Given the description of an element on the screen output the (x, y) to click on. 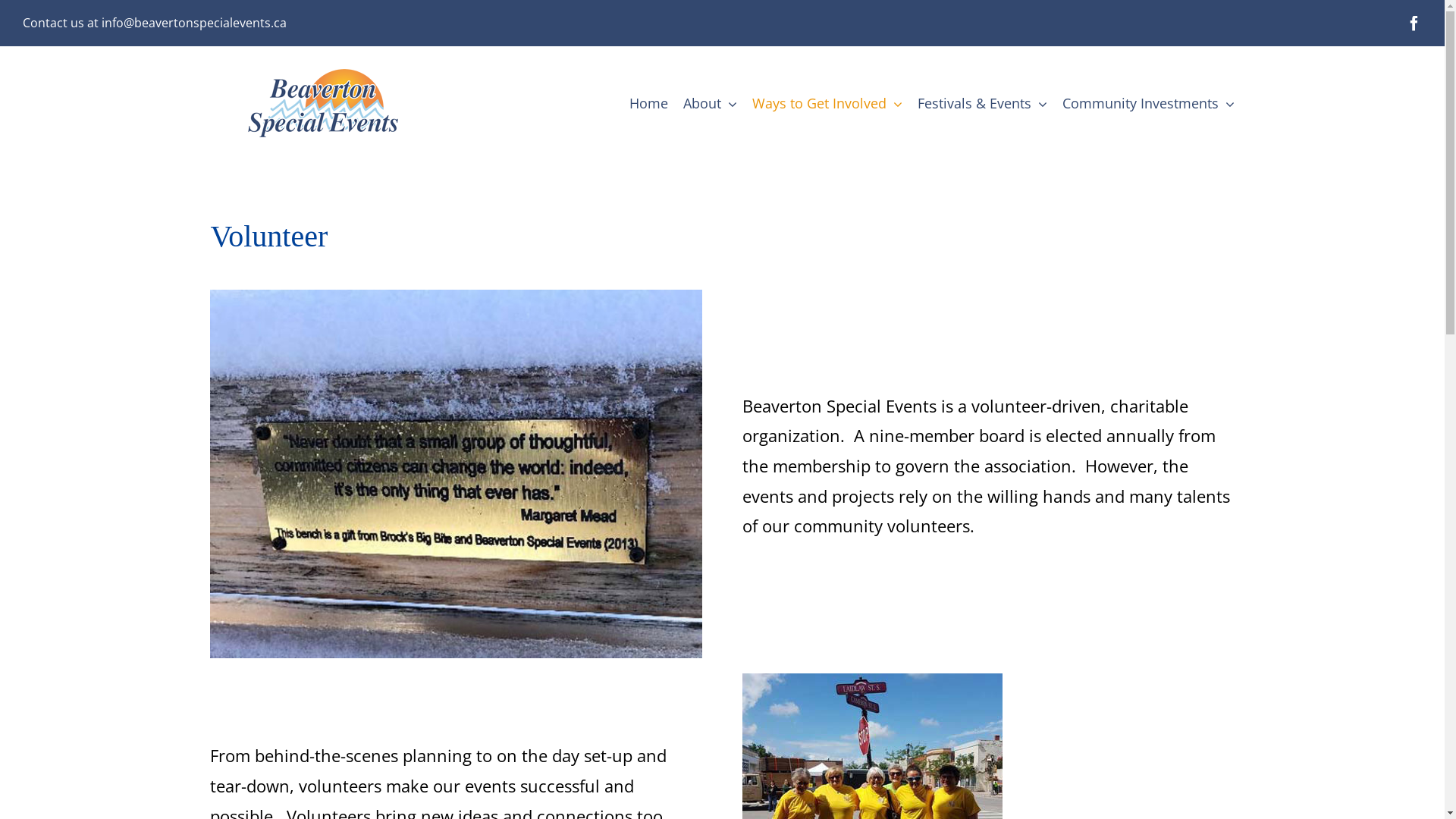
Home Element type: text (648, 103)
info@beavertonspecialevents.ca Element type: text (193, 22)
Community Investments Element type: text (1148, 103)
About Element type: text (710, 103)
Festivals & Events Element type: text (982, 103)
Ways to Get Involved Element type: text (827, 103)
Beaverton Donations Element type: hover (455, 473)
